Given the description of an element on the screen output the (x, y) to click on. 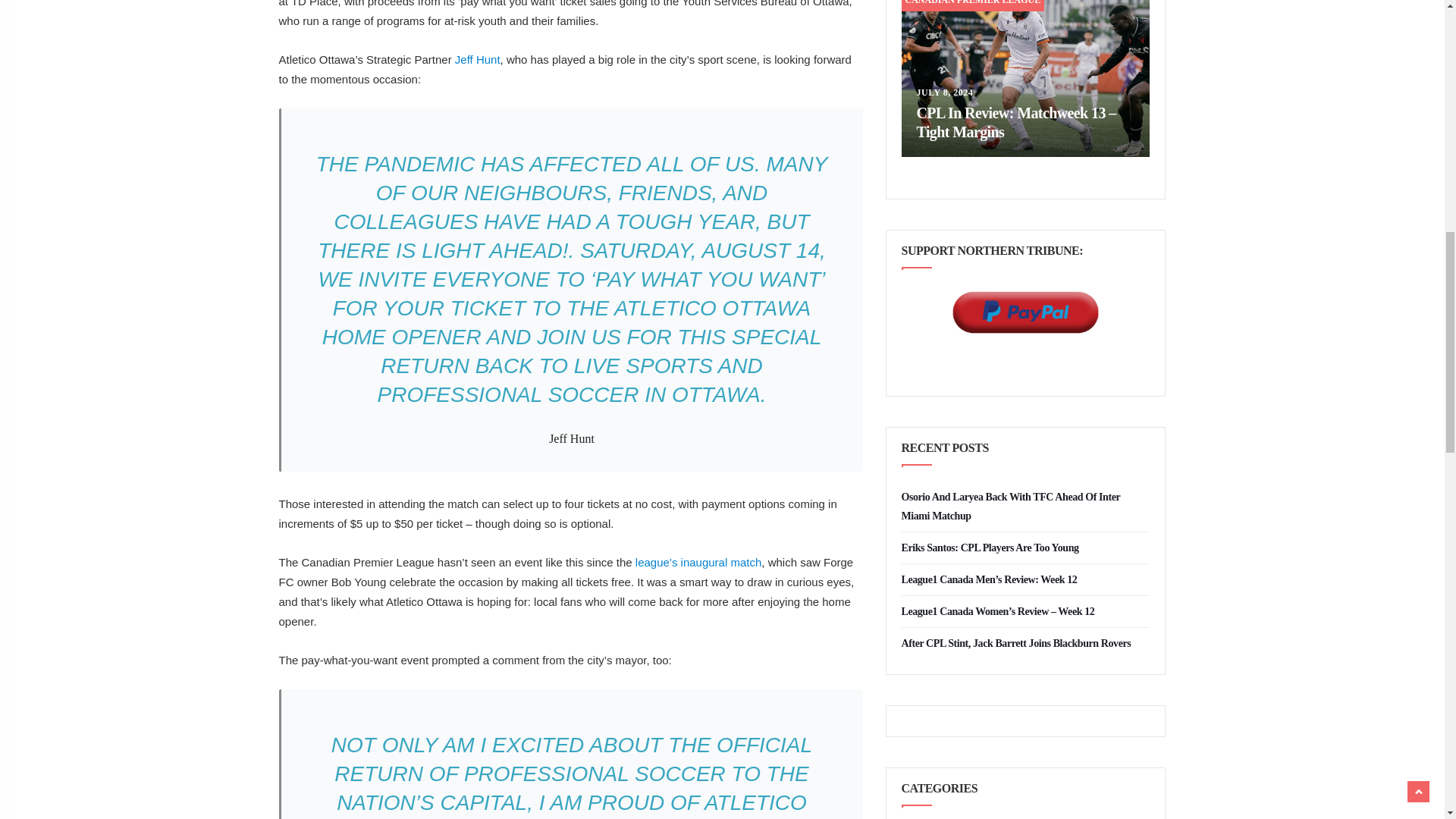
Jeff Hunt (477, 59)
